Given the description of an element on the screen output the (x, y) to click on. 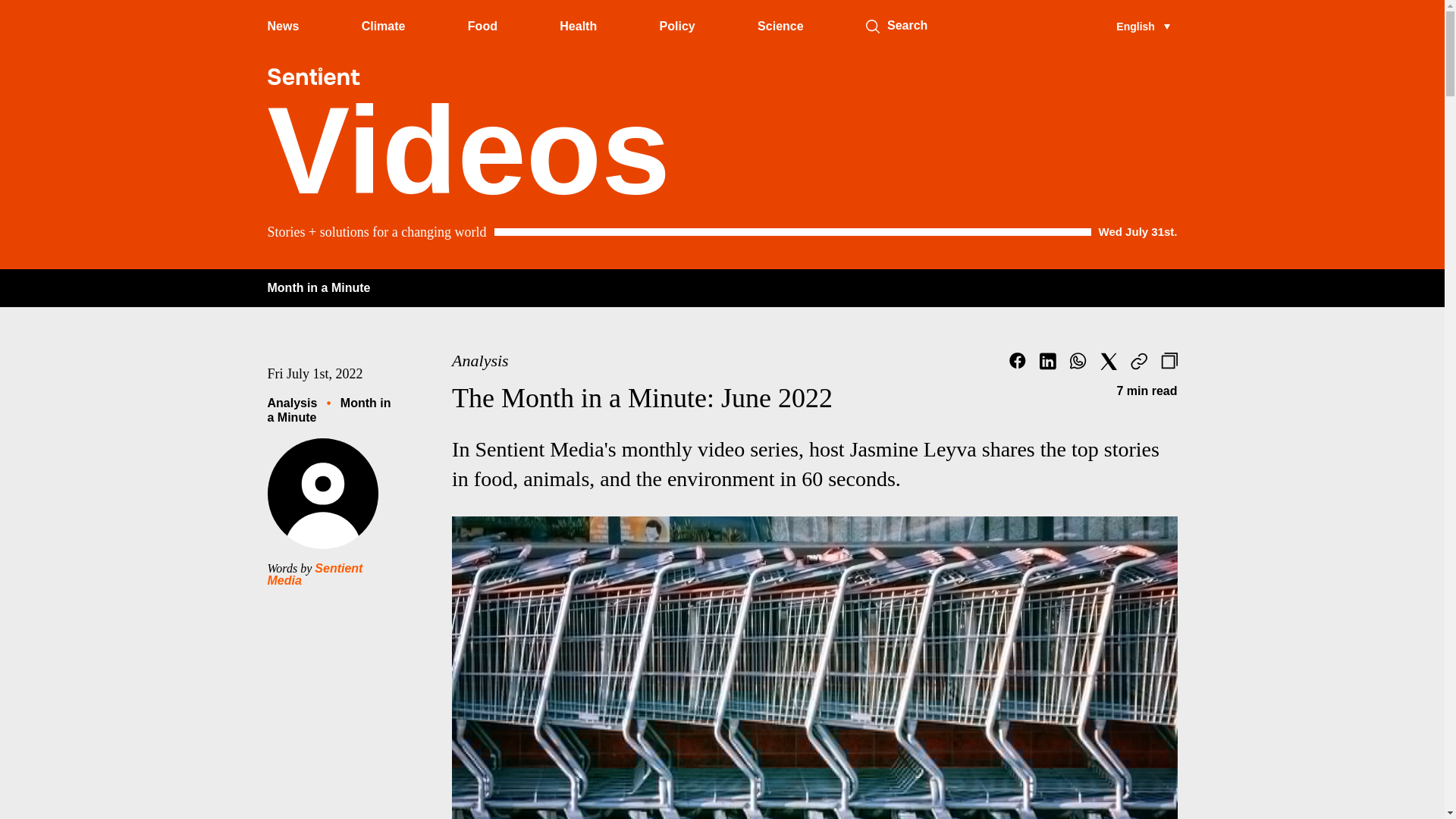
Month in a Minute (317, 287)
News (282, 25)
Science (780, 25)
Policy (677, 25)
Climate (383, 25)
English (1142, 26)
Health (577, 25)
Search (872, 26)
Food (482, 25)
